Given the description of an element on the screen output the (x, y) to click on. 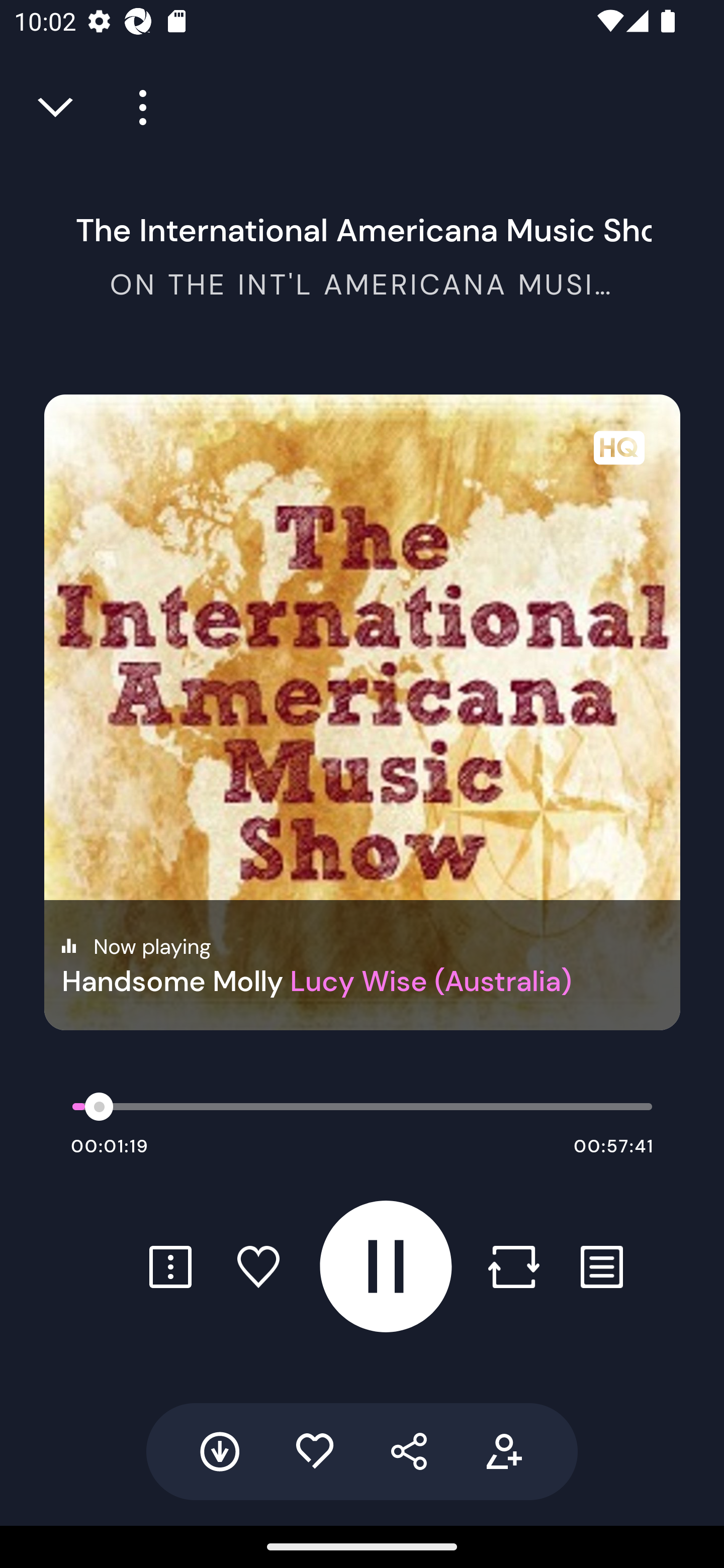
Close full player (57, 107)
Player more options button (136, 107)
Afrobeats (361, 997)
Ambient (361, 1085)
Bass & Club music (361, 1174)
Repost button (513, 1266)
